Given the description of an element on the screen output the (x, y) to click on. 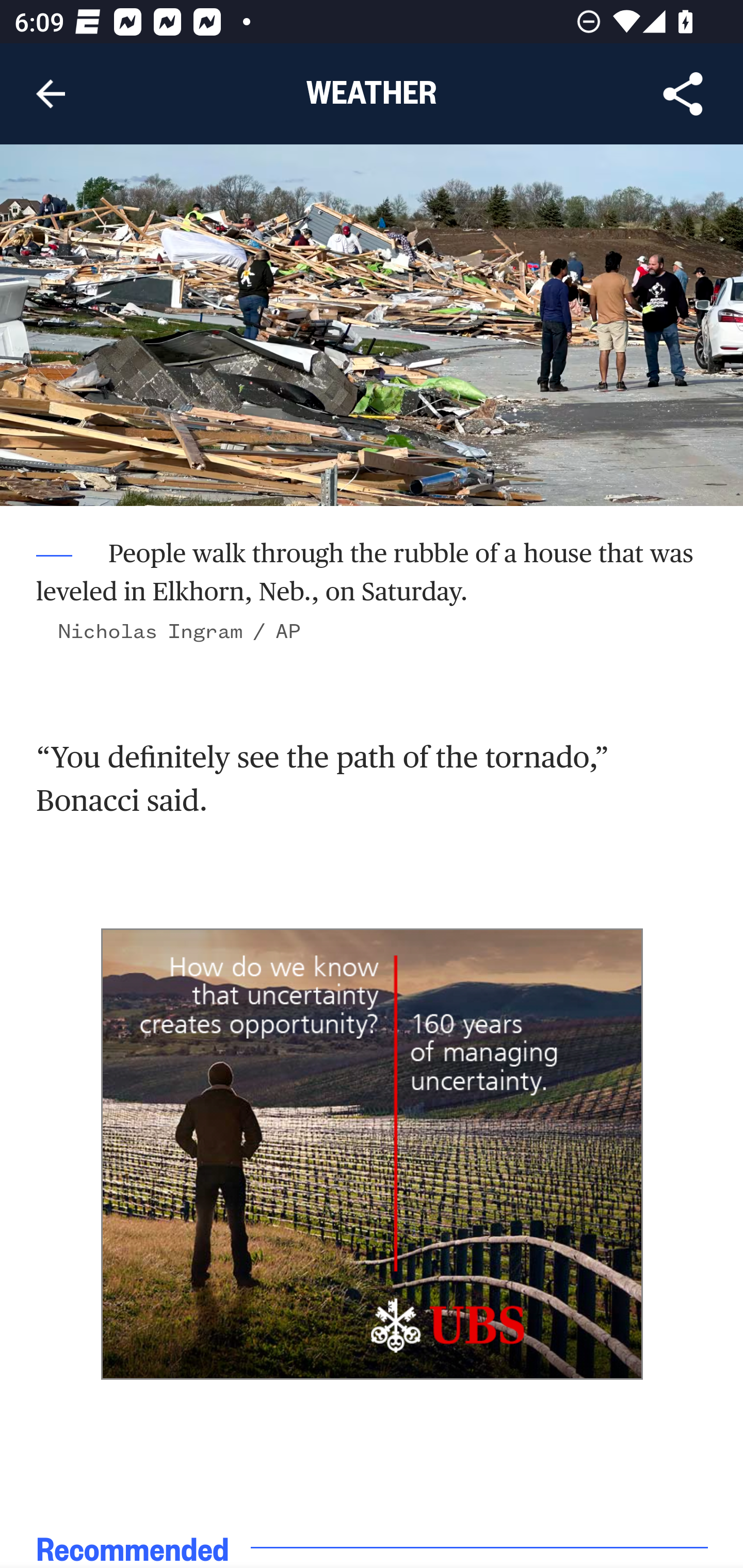
Navigate up (50, 93)
Share Article, button (683, 94)
